Given the description of an element on the screen output the (x, y) to click on. 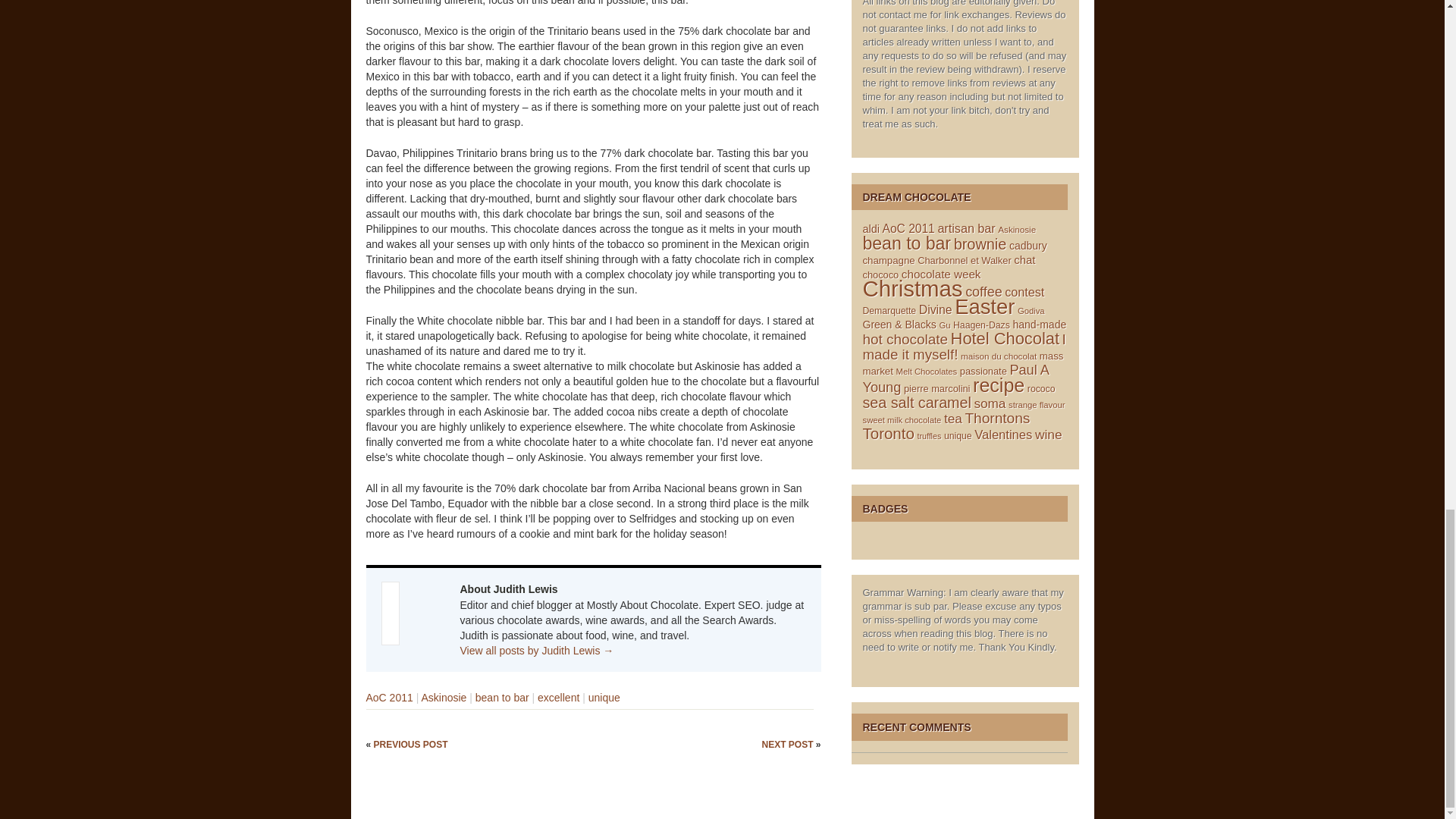
Askinosie (442, 697)
excellent (558, 697)
NEXT POST (788, 744)
PREVIOUS POST (411, 744)
bean to bar (502, 697)
unique (604, 697)
AoC 2011 (388, 697)
